Given the description of an element on the screen output the (x, y) to click on. 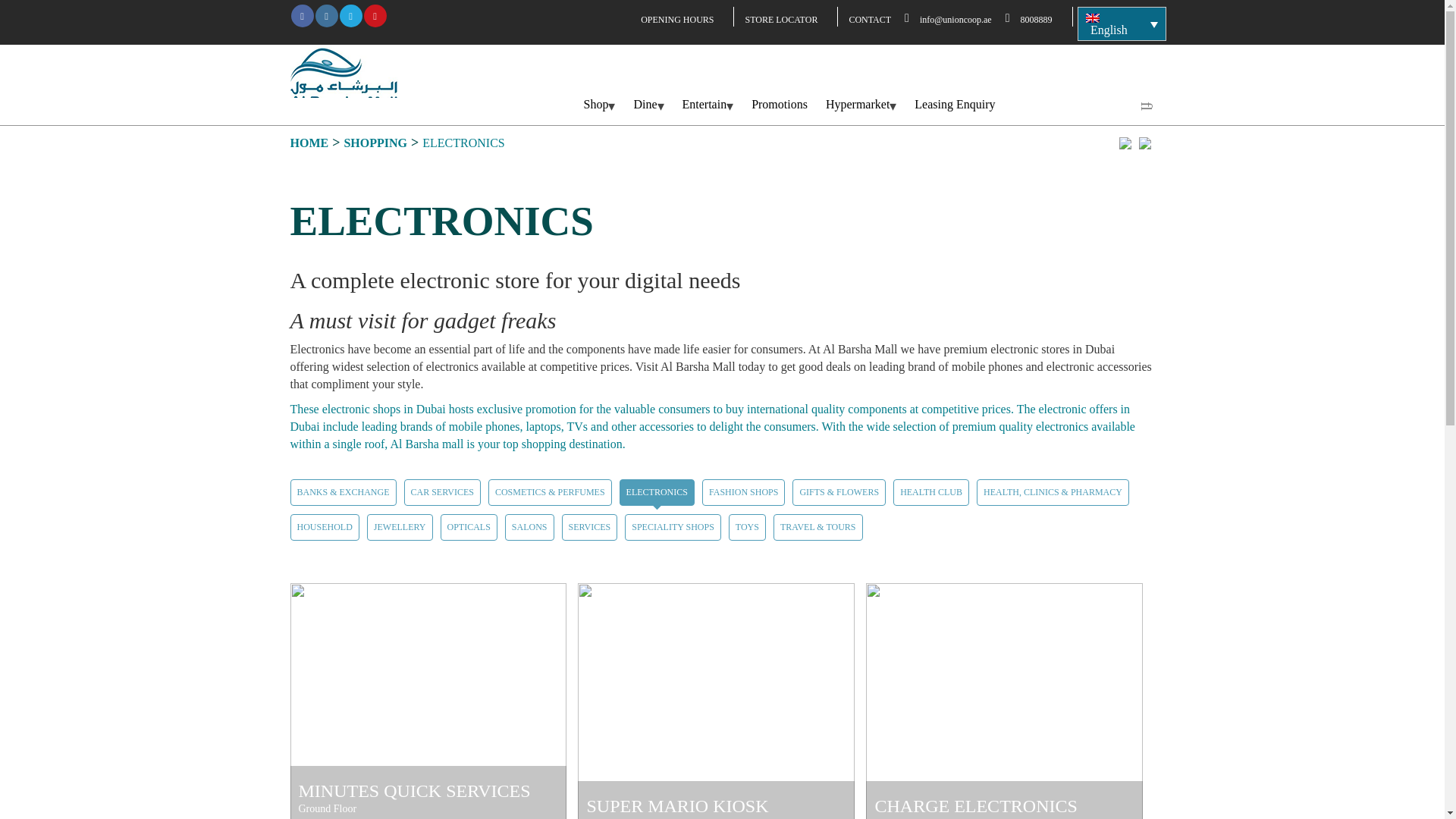
Entertain (707, 104)
STORE LOCATOR (785, 14)
CONTACT (874, 14)
Shopping (375, 142)
English (1121, 23)
OPENING HOURS (681, 14)
Home (309, 142)
English (1092, 17)
Dine (648, 104)
Shop (598, 104)
